Given the description of an element on the screen output the (x, y) to click on. 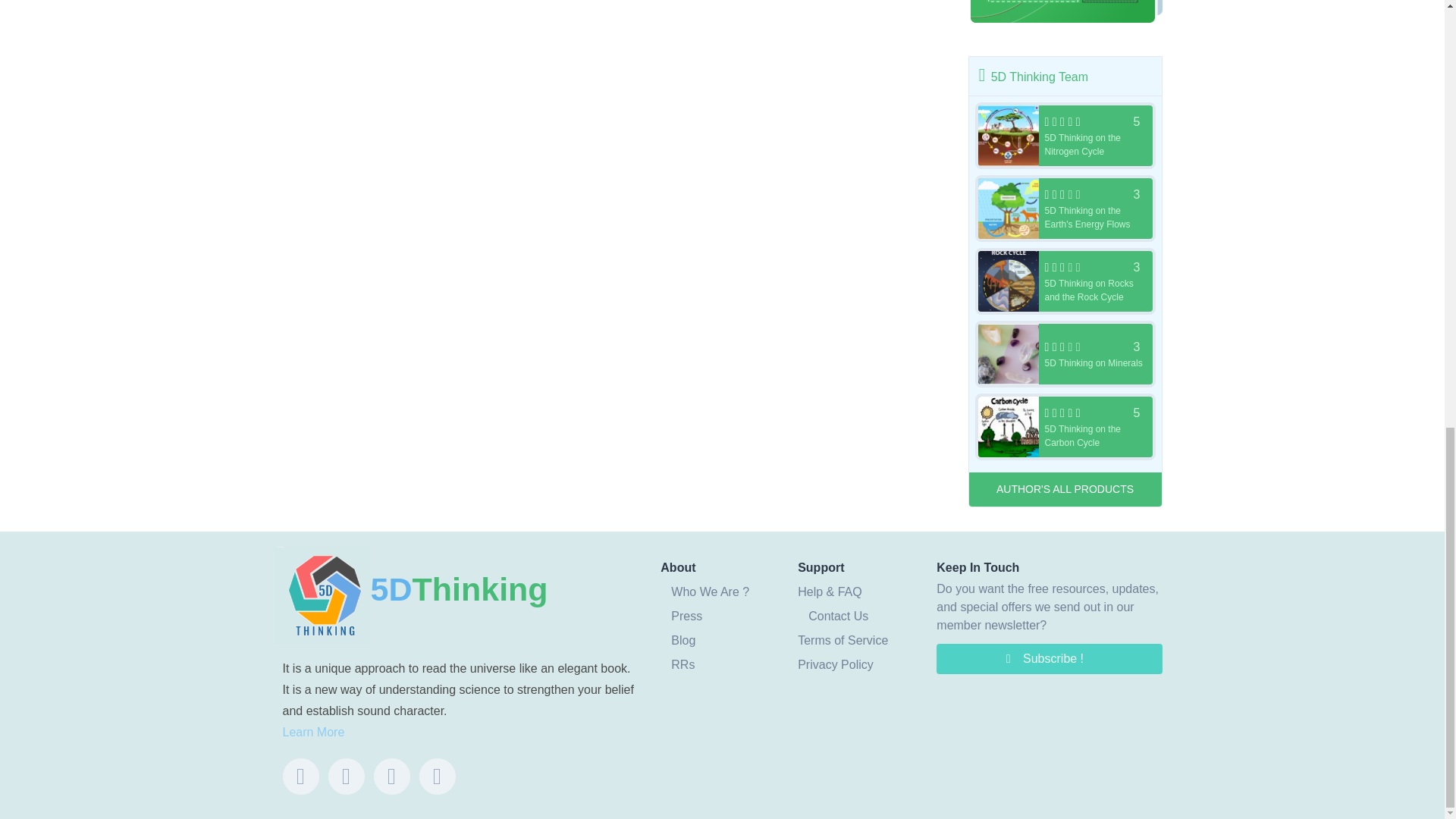
5D Thinking Team (1065, 281)
